Given the description of an element on the screen output the (x, y) to click on. 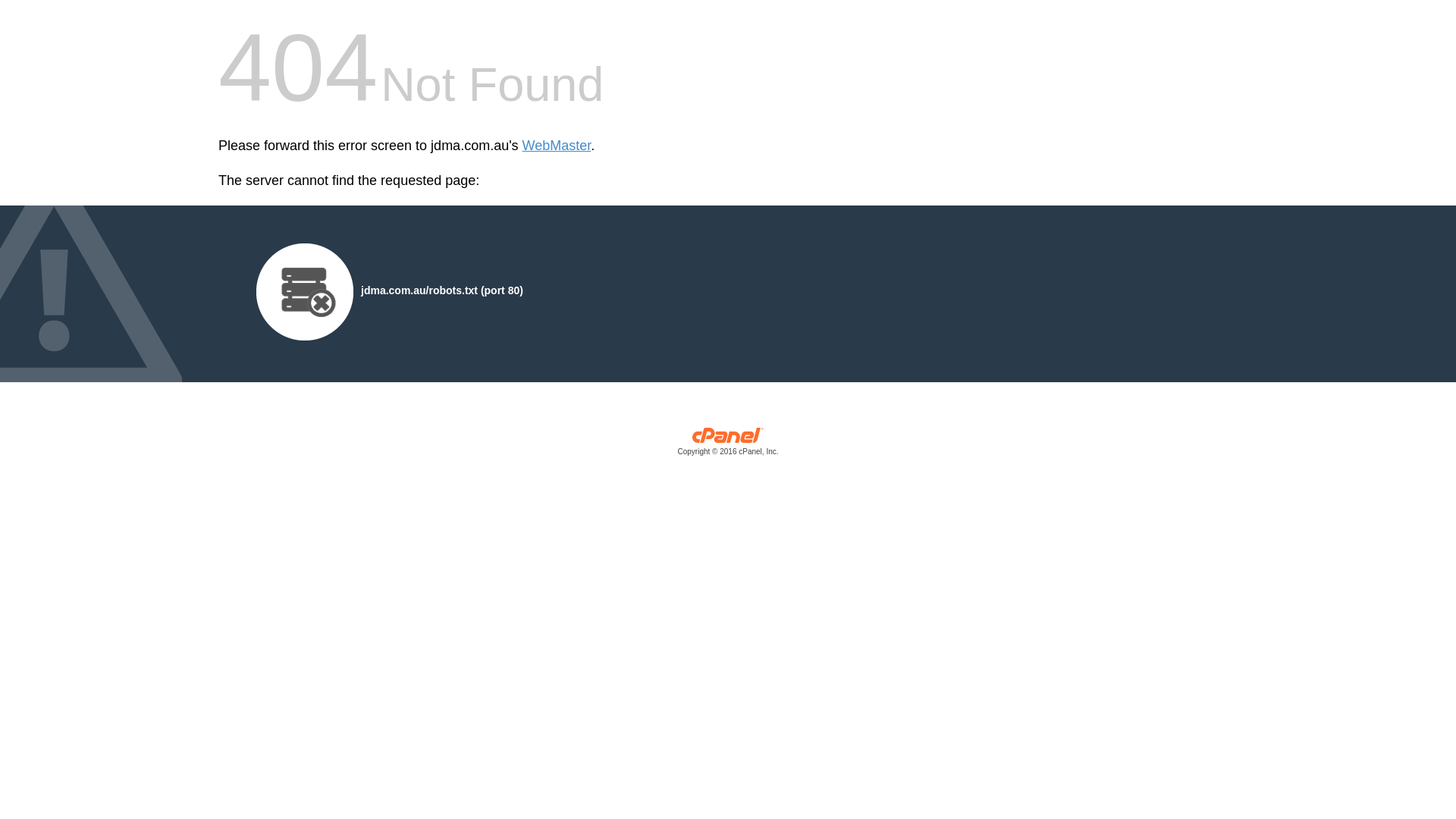
WebMaster Element type: text (556, 145)
